Given the description of an element on the screen output the (x, y) to click on. 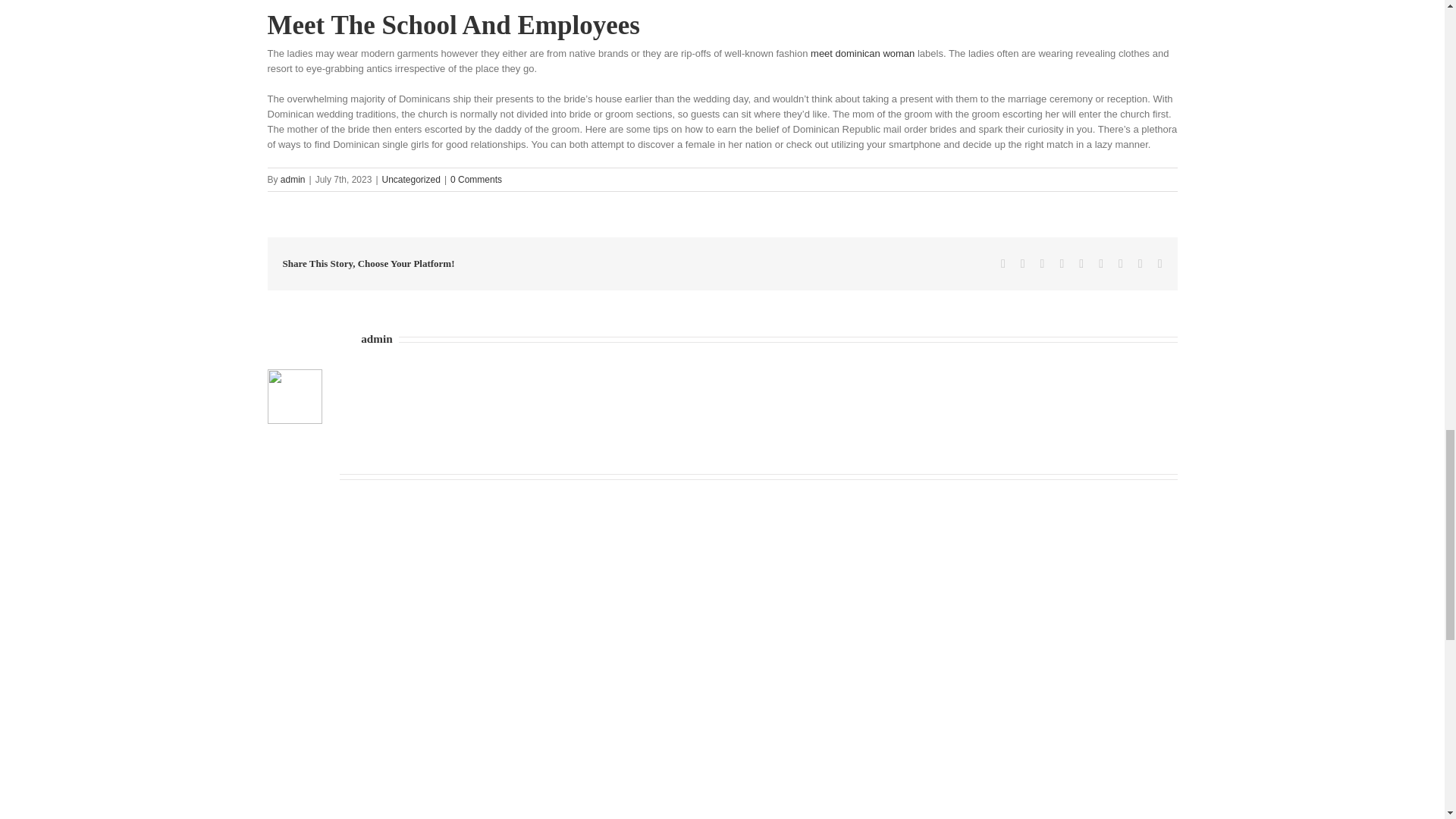
admin (293, 179)
meet dominican woman (862, 52)
0 Comments (475, 179)
Uncategorized (411, 179)
